Given the description of an element on the screen output the (x, y) to click on. 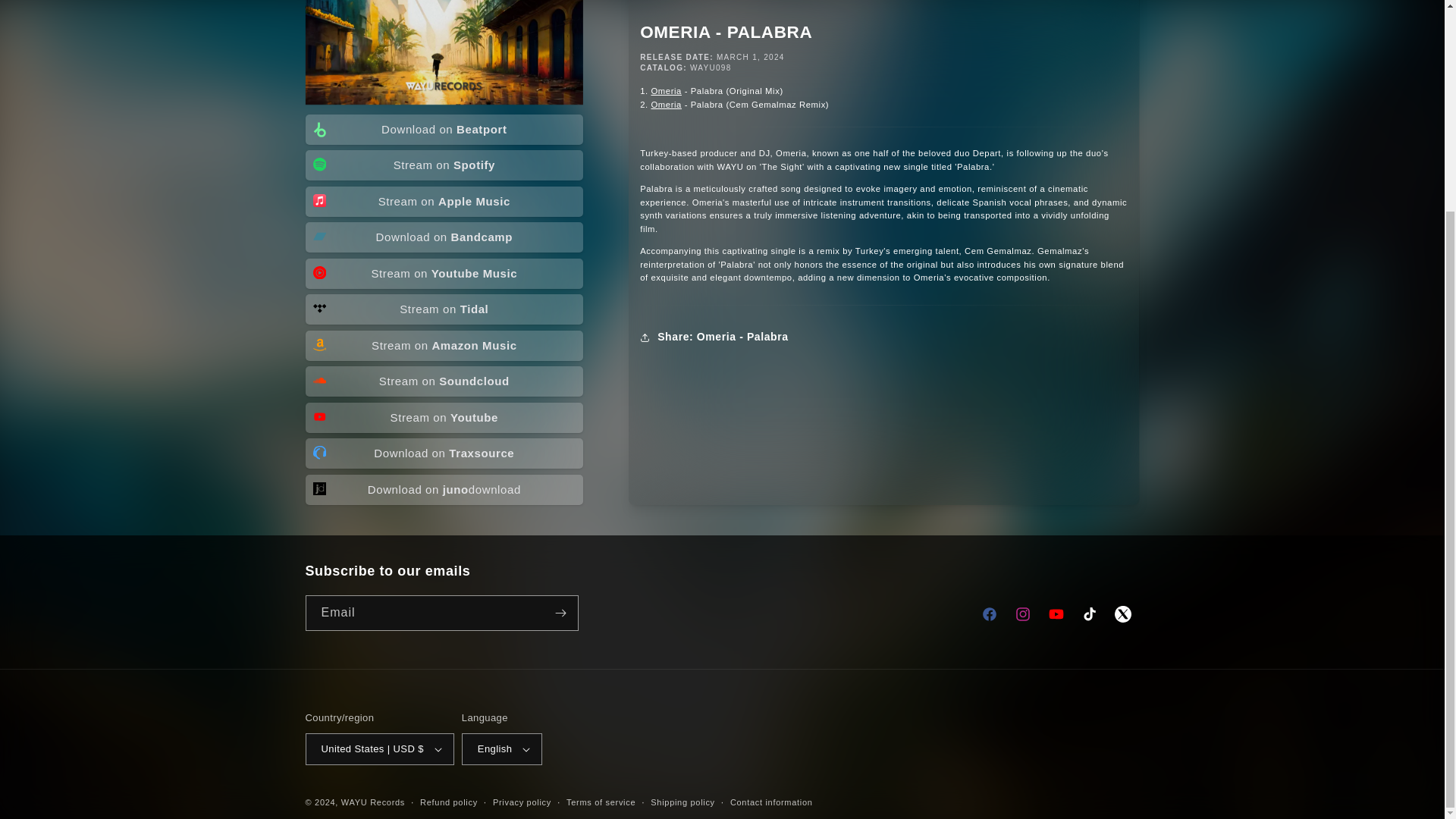
Download on Bandcamp (443, 236)
Stream on Tidal (443, 309)
Stream on Apple Music (443, 201)
Stream on Youtube Music (443, 273)
Stream on Amazon Music (443, 345)
Download on Beatport (443, 129)
Stream on Spotify (443, 164)
